Given the description of an element on the screen output the (x, y) to click on. 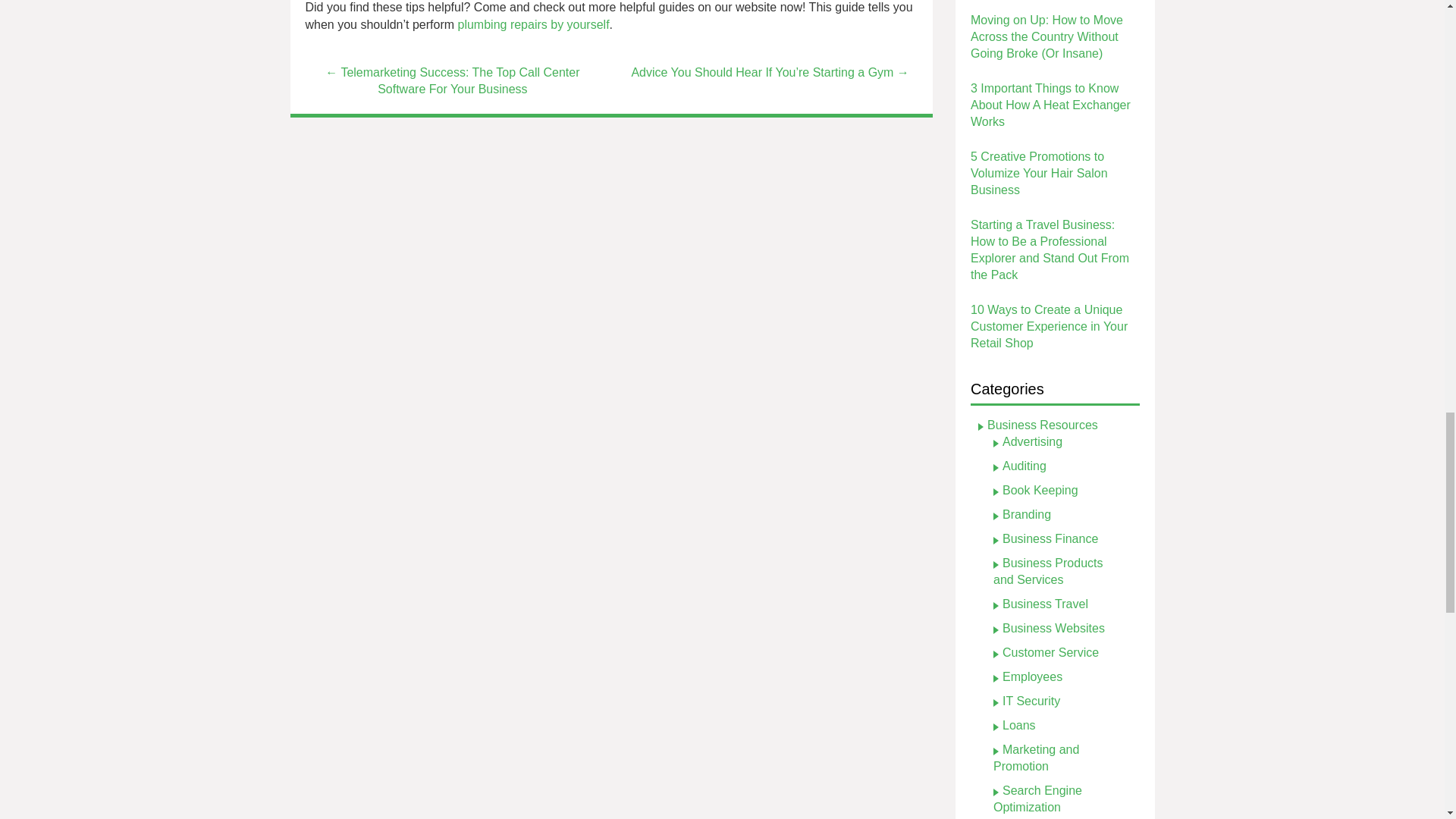
plumbing repairs by yourself (534, 24)
